Given the description of an element on the screen output the (x, y) to click on. 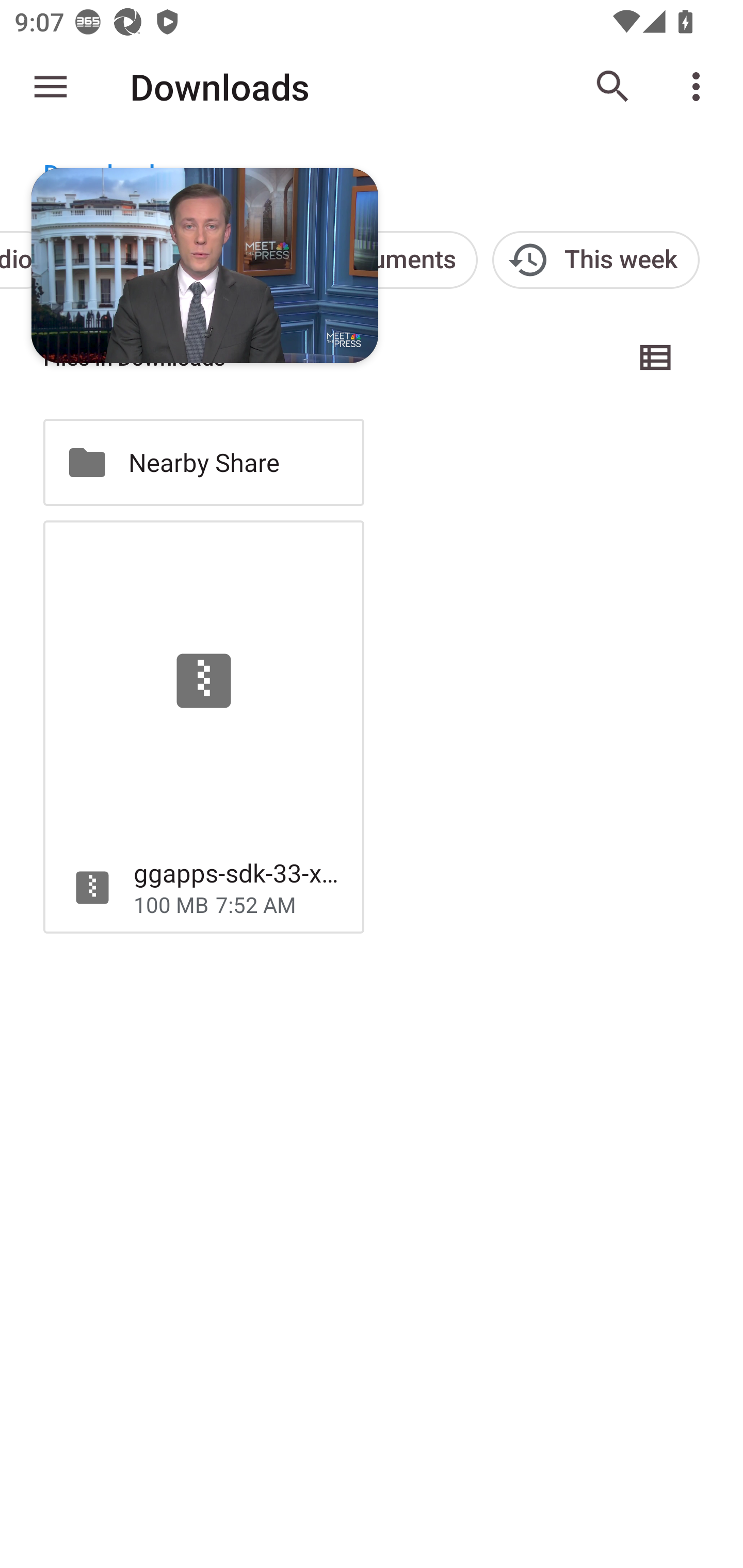
Show roots (50, 86)
Search (612, 86)
More options (699, 86)
This week (595, 259)
Nearby Share (203, 462)
ggapps-sdk-33-x86_64-20231003.zip 100 MB 7:52 AM (203, 726)
